Given the description of an element on the screen output the (x, y) to click on. 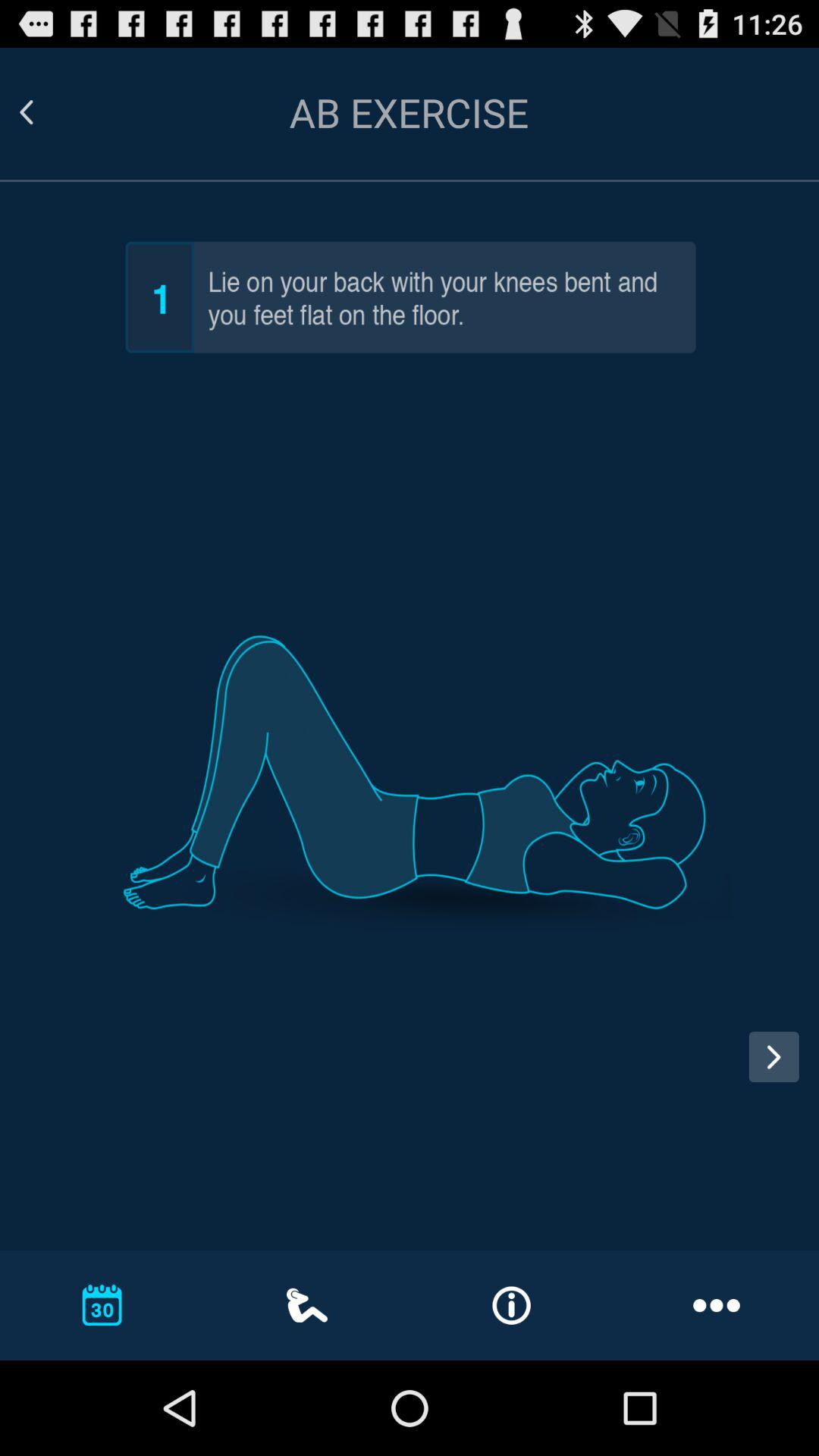
go to next pose (774, 1056)
